Given the description of an element on the screen output the (x, y) to click on. 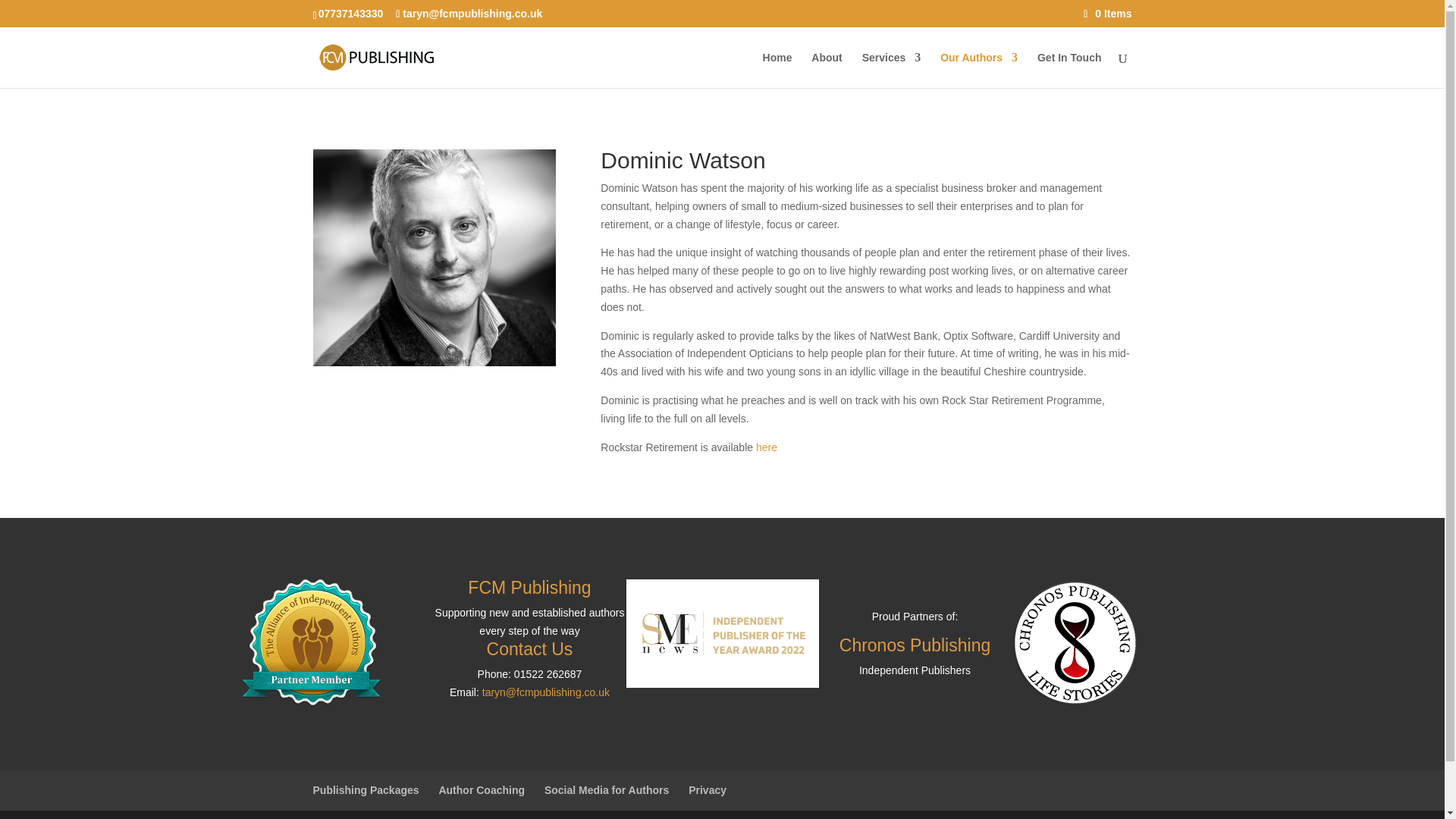
Services (891, 69)
07737143330 (351, 13)
0 Items (1107, 13)
Our Authors (978, 69)
